Given the description of an element on the screen output the (x, y) to click on. 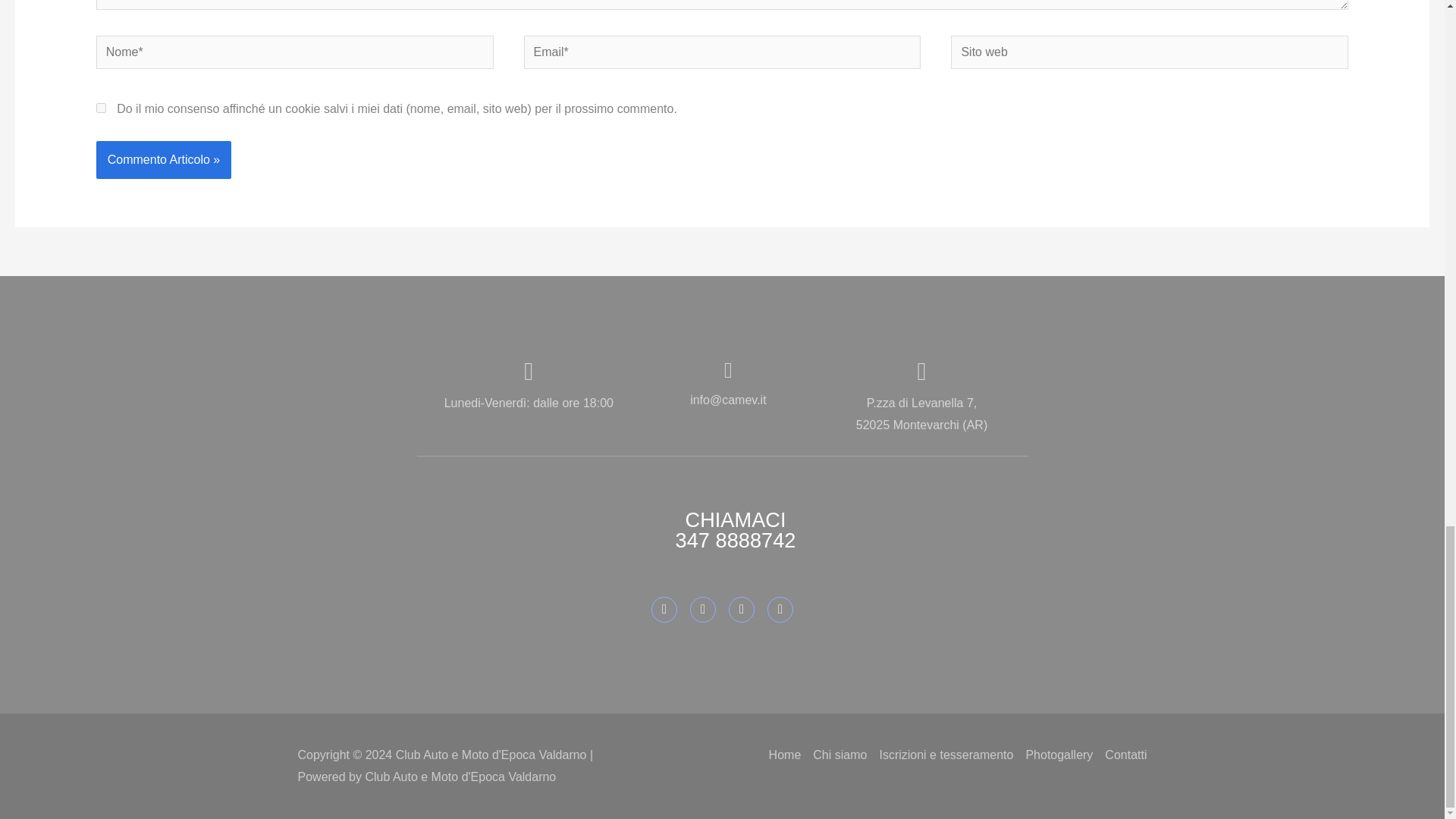
yes (101, 108)
Photogallery (1059, 754)
Contatti (1126, 754)
Iscrizioni e tesseramento (946, 754)
Chi siamo (839, 754)
Home (785, 754)
